Given the description of an element on the screen output the (x, y) to click on. 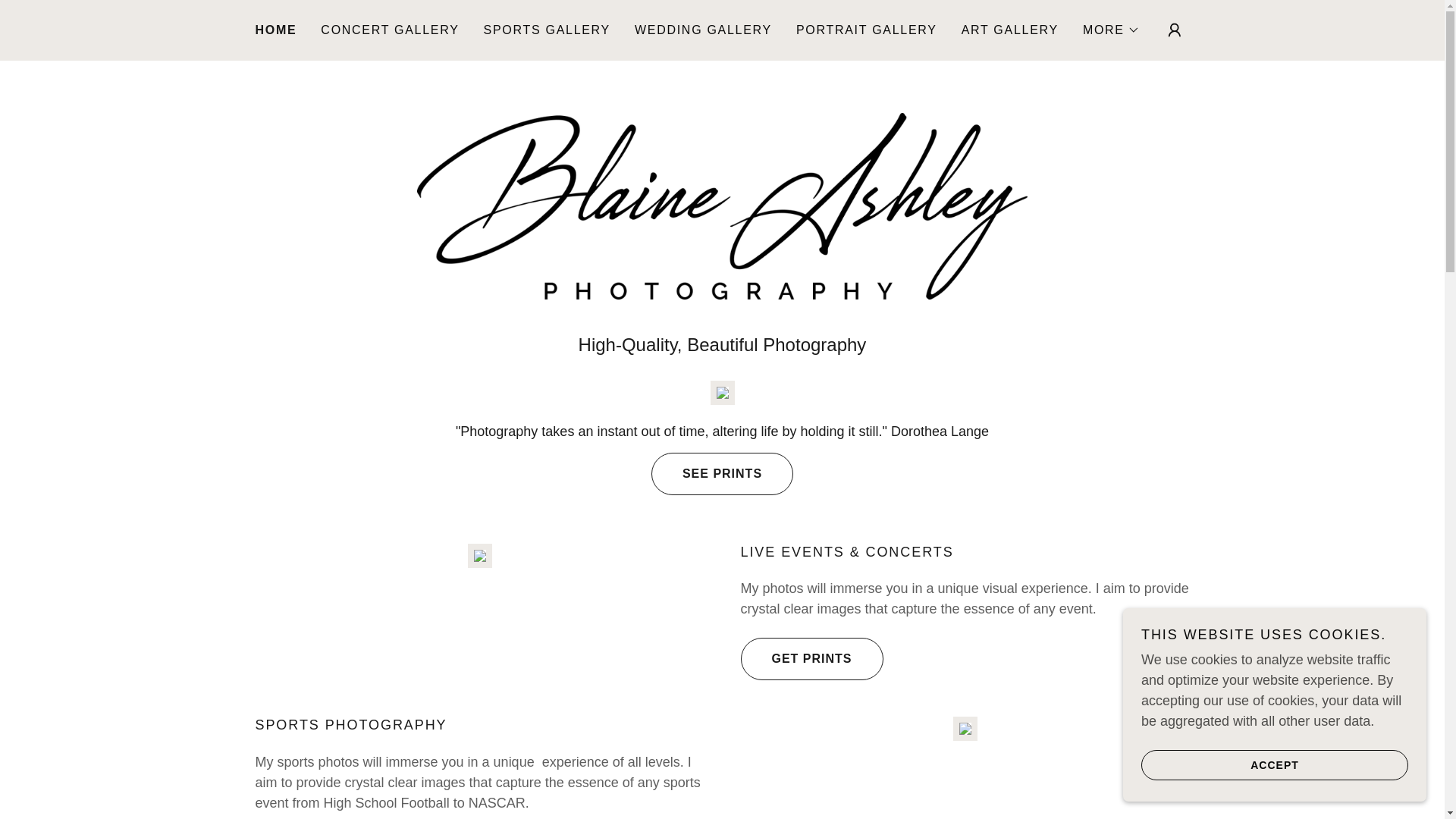
PORTRAIT GALLERY (867, 30)
SEE PRINTS (721, 473)
CONCERT GALLERY (389, 30)
SPORTS GALLERY (546, 30)
Blaine Ashley Photography (721, 205)
ART GALLERY (1009, 30)
MORE (1111, 30)
WEDDING GALLERY (703, 30)
GET PRINTS (810, 659)
HOME (275, 30)
